Given the description of an element on the screen output the (x, y) to click on. 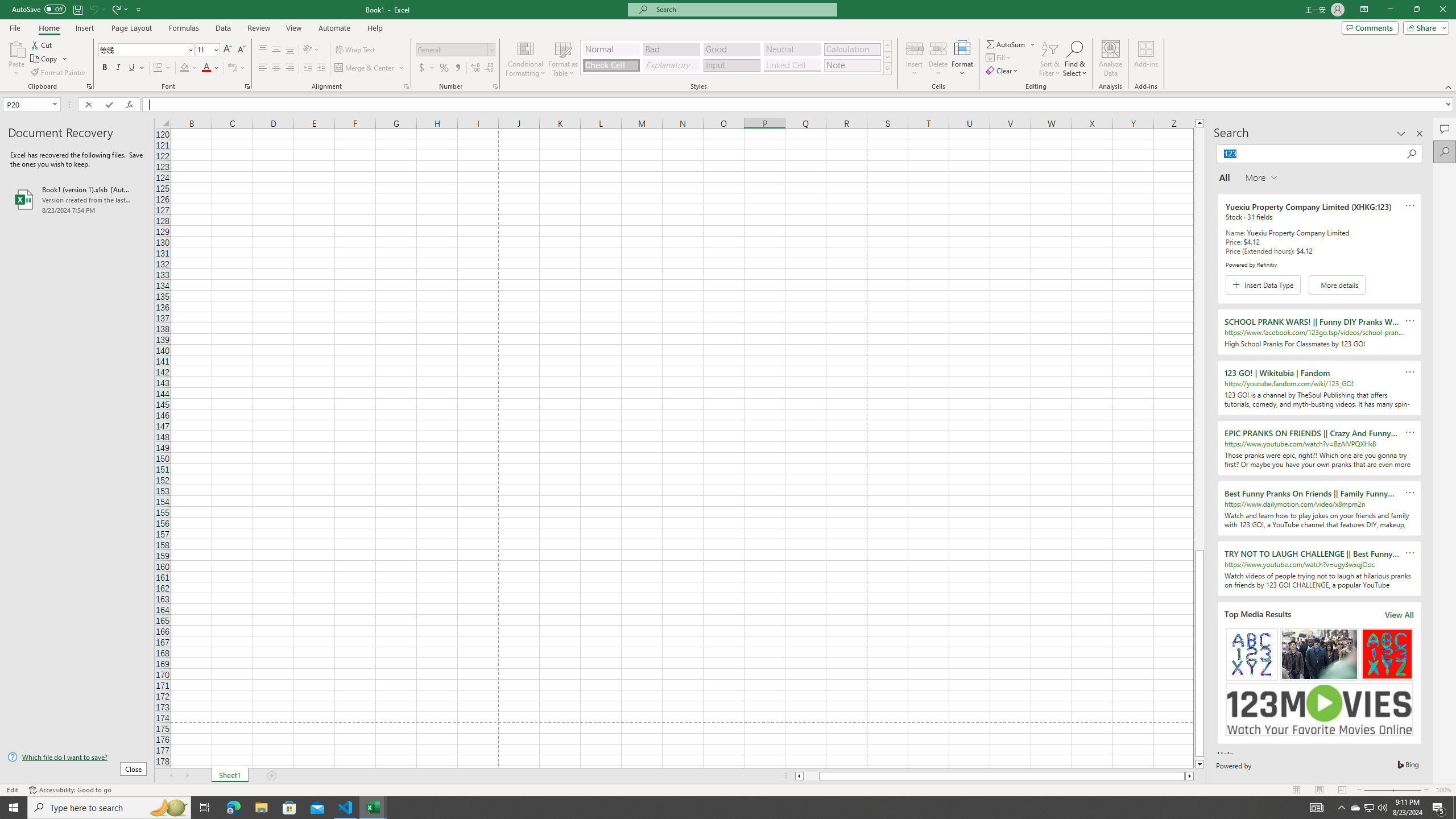
Font Color RGB(255, 0, 0) (206, 67)
Percent Style (443, 67)
Restore Down (1416, 9)
Book1 (version 1).xlsb  [AutoRecovered] (77, 199)
Delete Cells... (938, 48)
Underline (131, 67)
Row Down (887, 56)
Class: MsoCommandBar (728, 45)
